Given the description of an element on the screen output the (x, y) to click on. 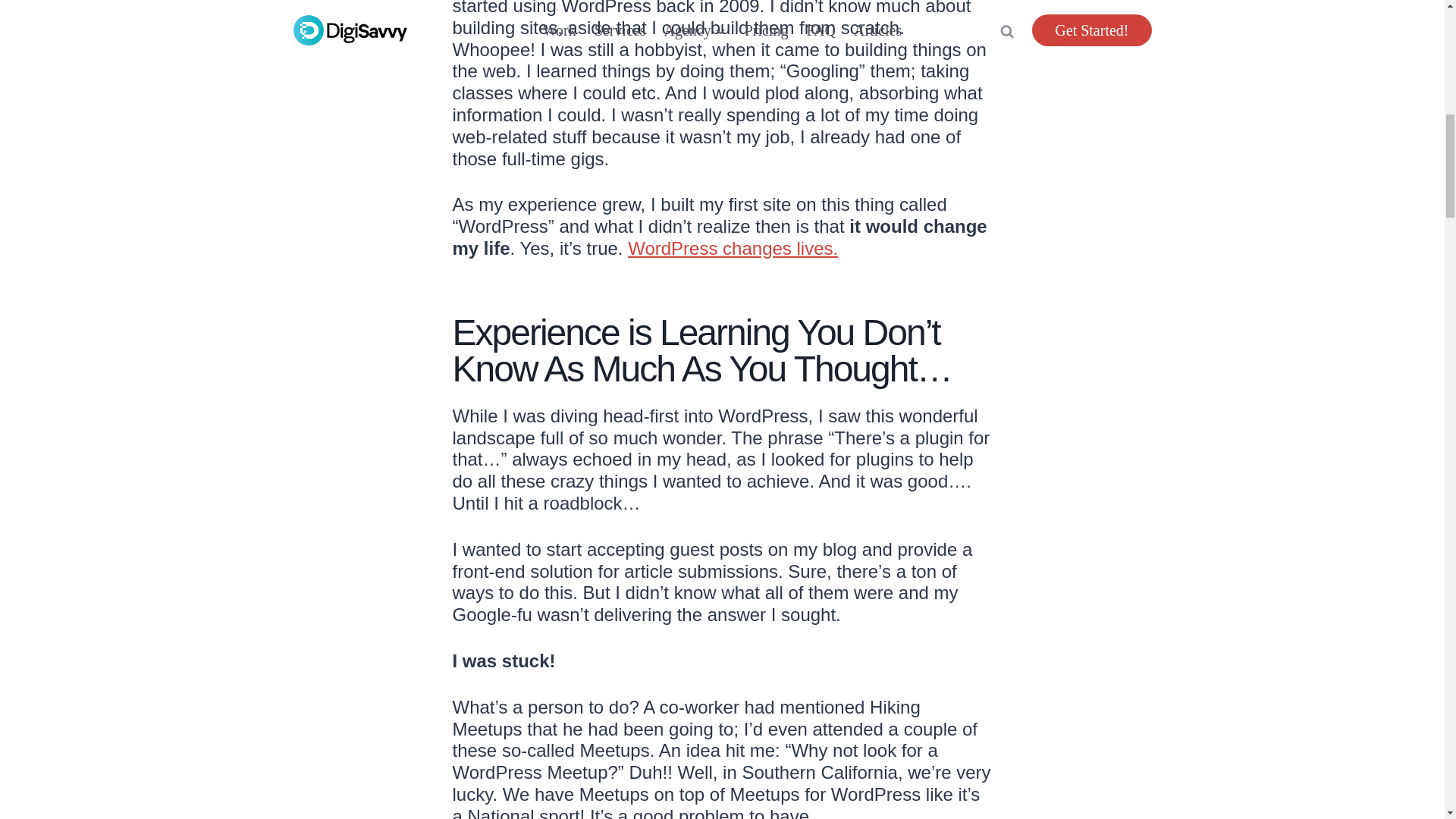
WordPress changes lives. (732, 248)
